Given the description of an element on the screen output the (x, y) to click on. 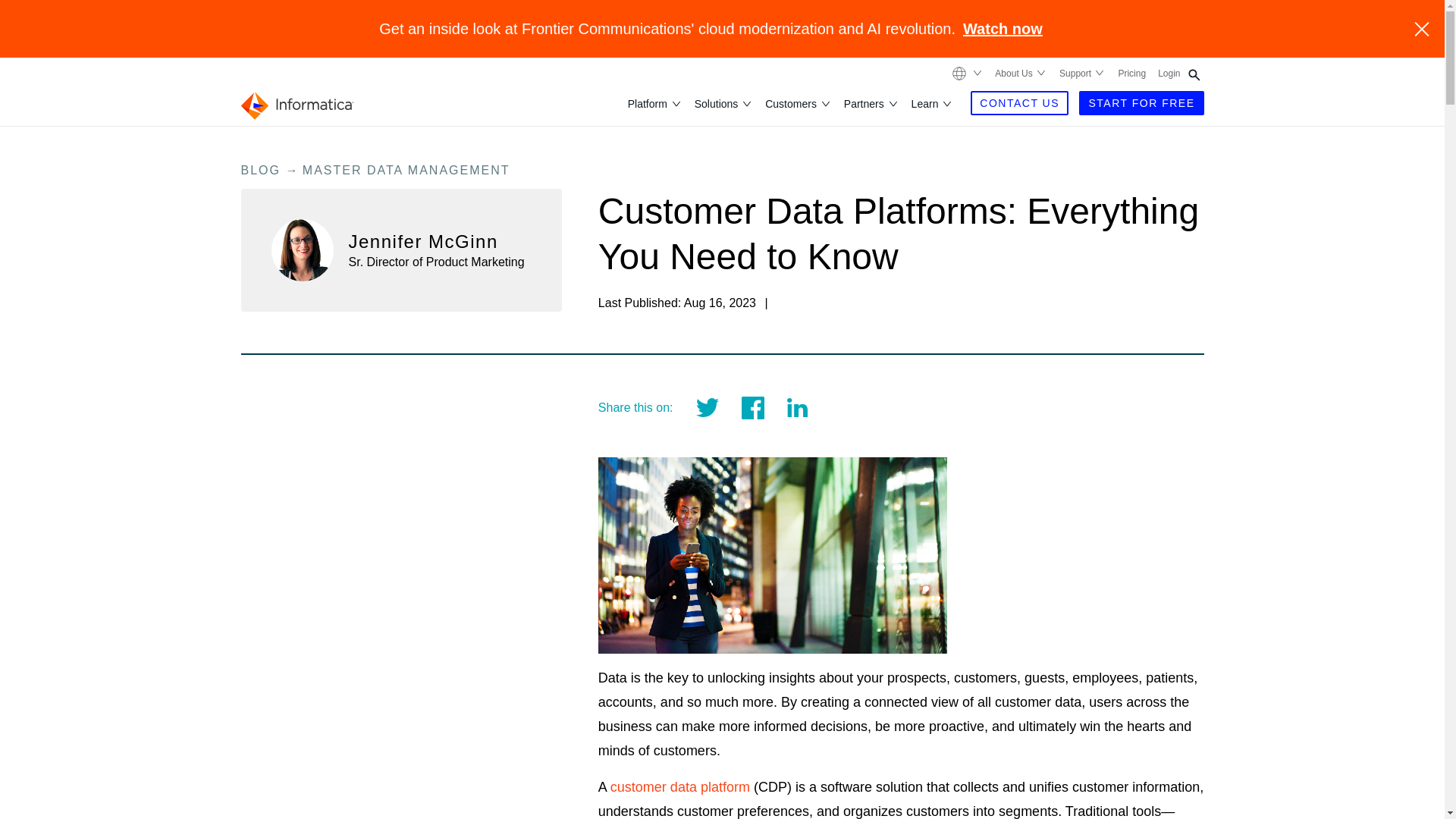
Platform (648, 103)
Solutions (717, 103)
Watch now (1002, 28)
